Given the description of an element on the screen output the (x, y) to click on. 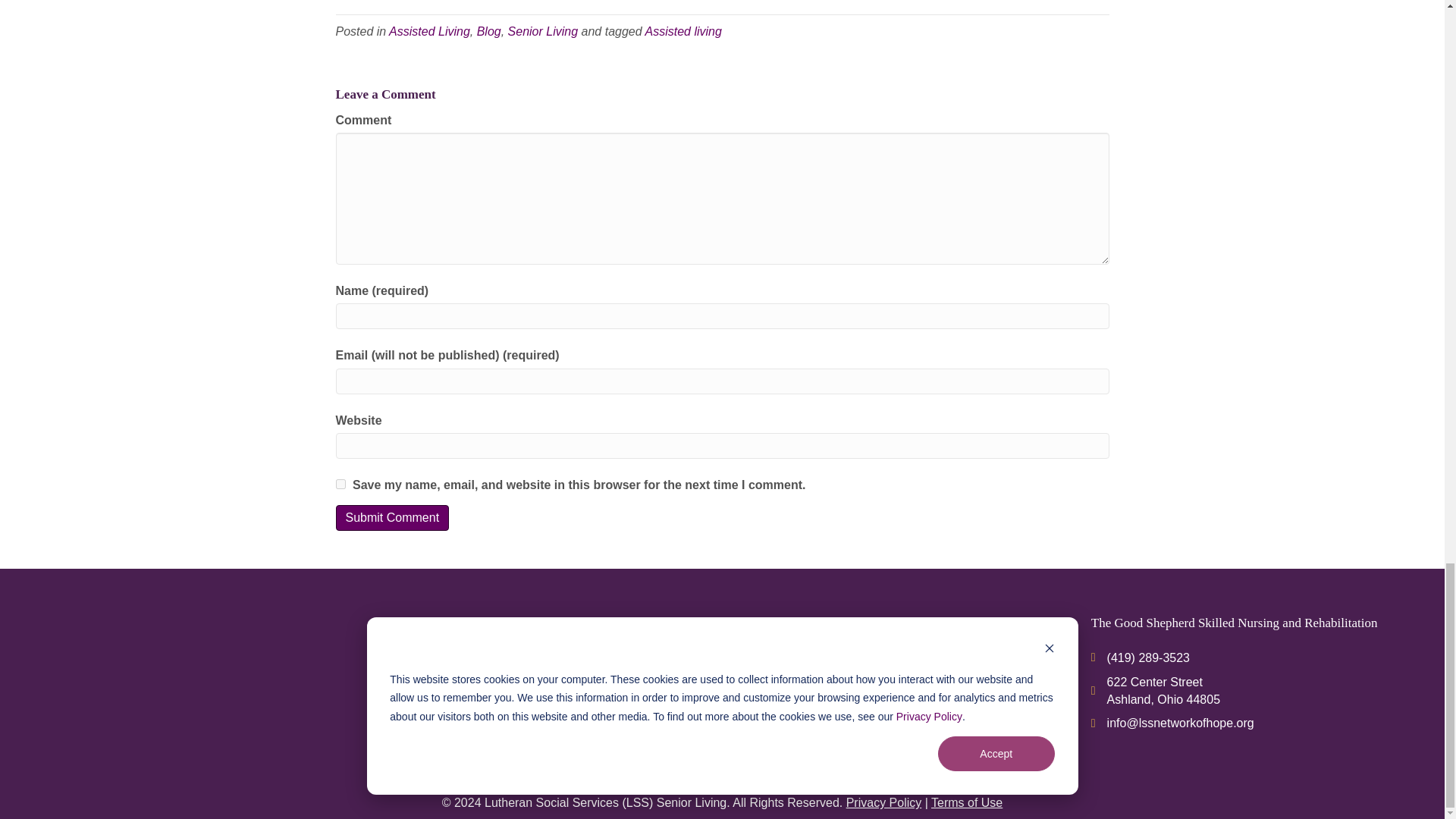
Submit Comment (391, 517)
yes (339, 483)
Assisted Living (429, 31)
Blog (488, 31)
